Given the description of an element on the screen output the (x, y) to click on. 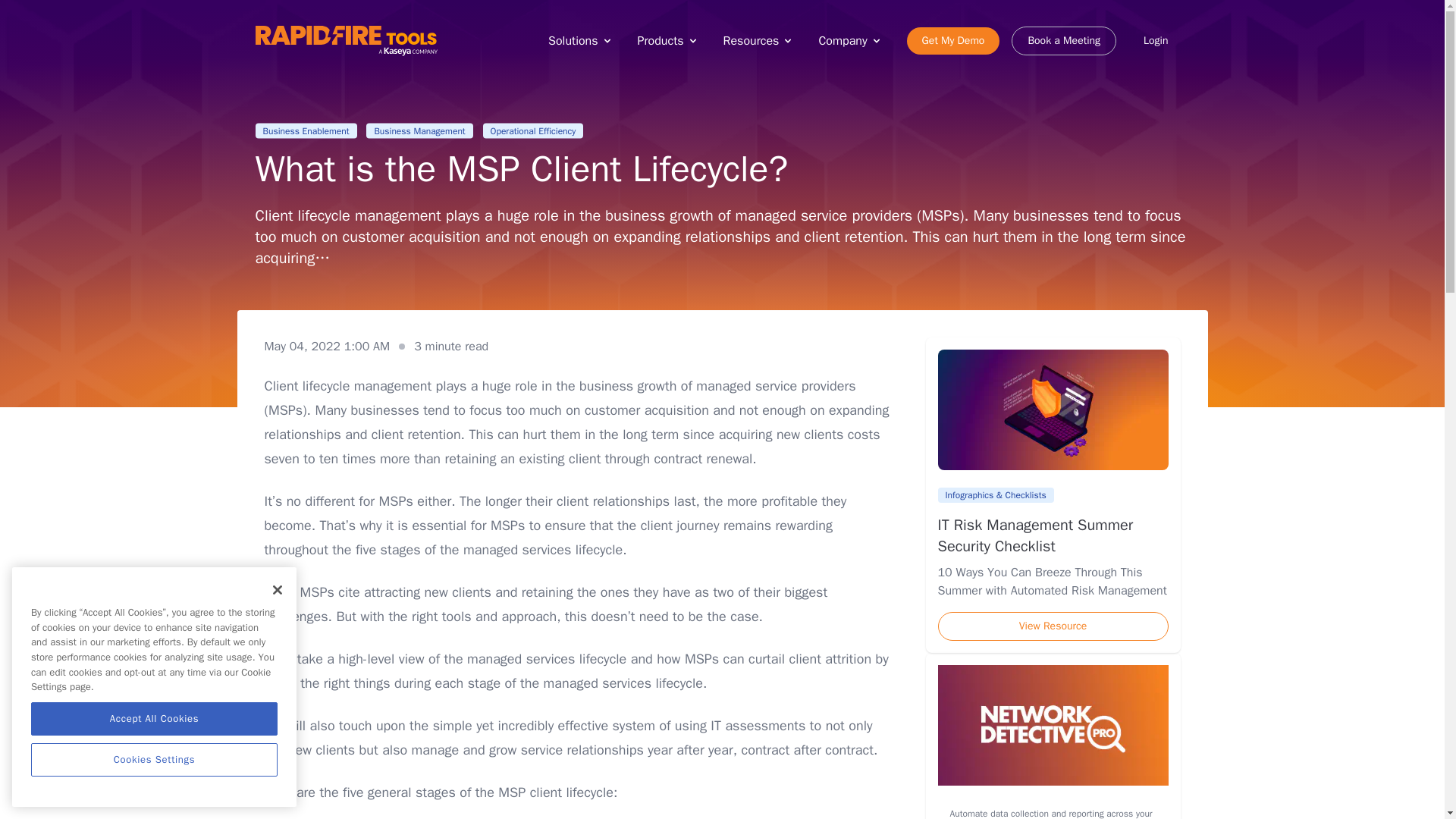
Book a Meeting (1063, 40)
Get My Demo (953, 40)
Login (1155, 40)
Products (667, 40)
May 04, 2022 (326, 346)
RapidFire Tools (345, 40)
Resources (758, 40)
Solutions (580, 40)
